Given the description of an element on the screen output the (x, y) to click on. 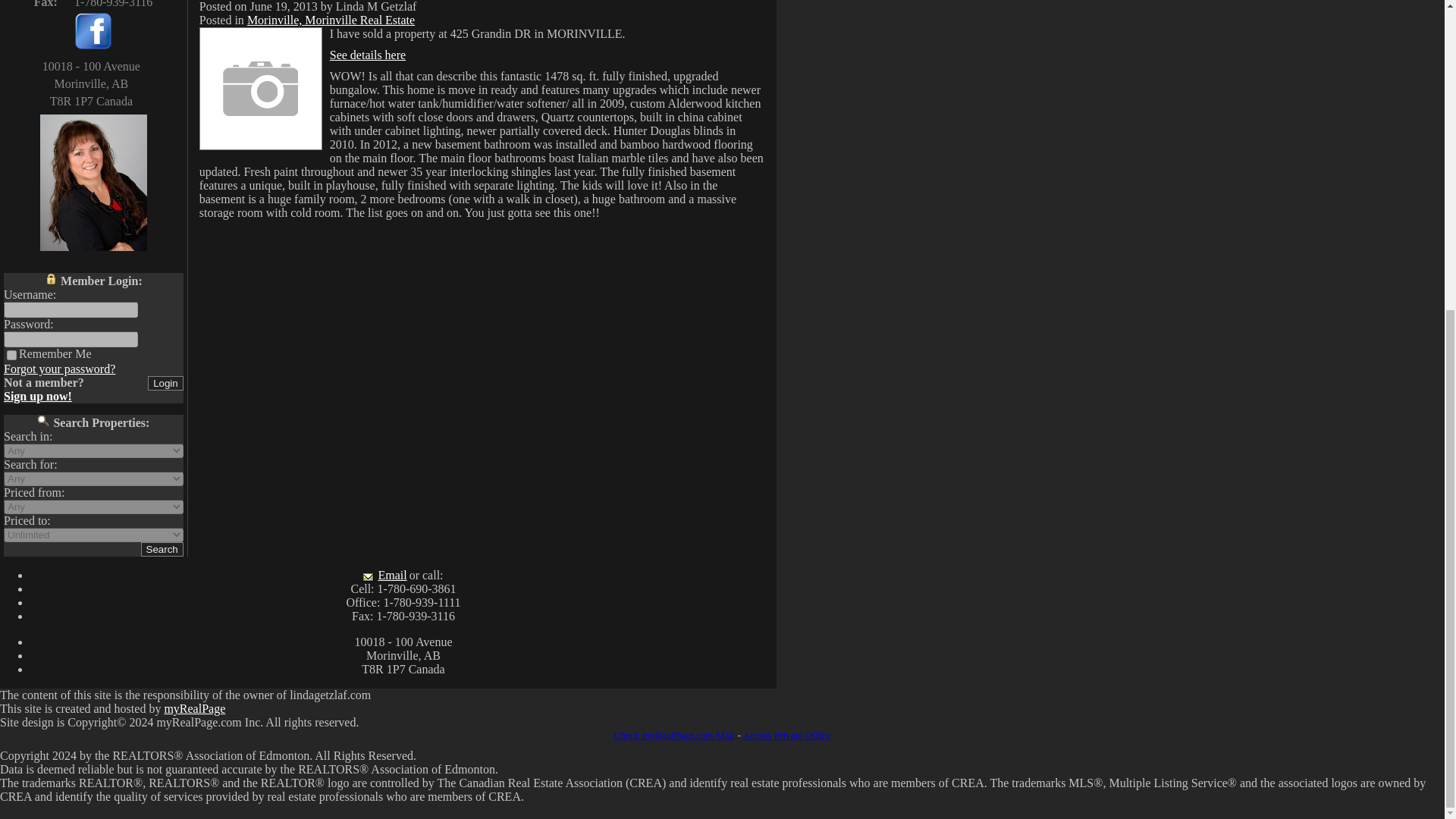
Email (384, 574)
Search (162, 549)
See details here (368, 54)
Morinville, Morinville Real Estate (330, 19)
Search (162, 549)
Sign up now! (37, 396)
Forgot your password? (59, 368)
Check myRealPage.com Mail (674, 735)
Remember Me (11, 355)
Access Private Office (785, 735)
Login (165, 382)
Login (165, 382)
Contact via email... (384, 574)
myRealPage (194, 707)
